Given the description of an element on the screen output the (x, y) to click on. 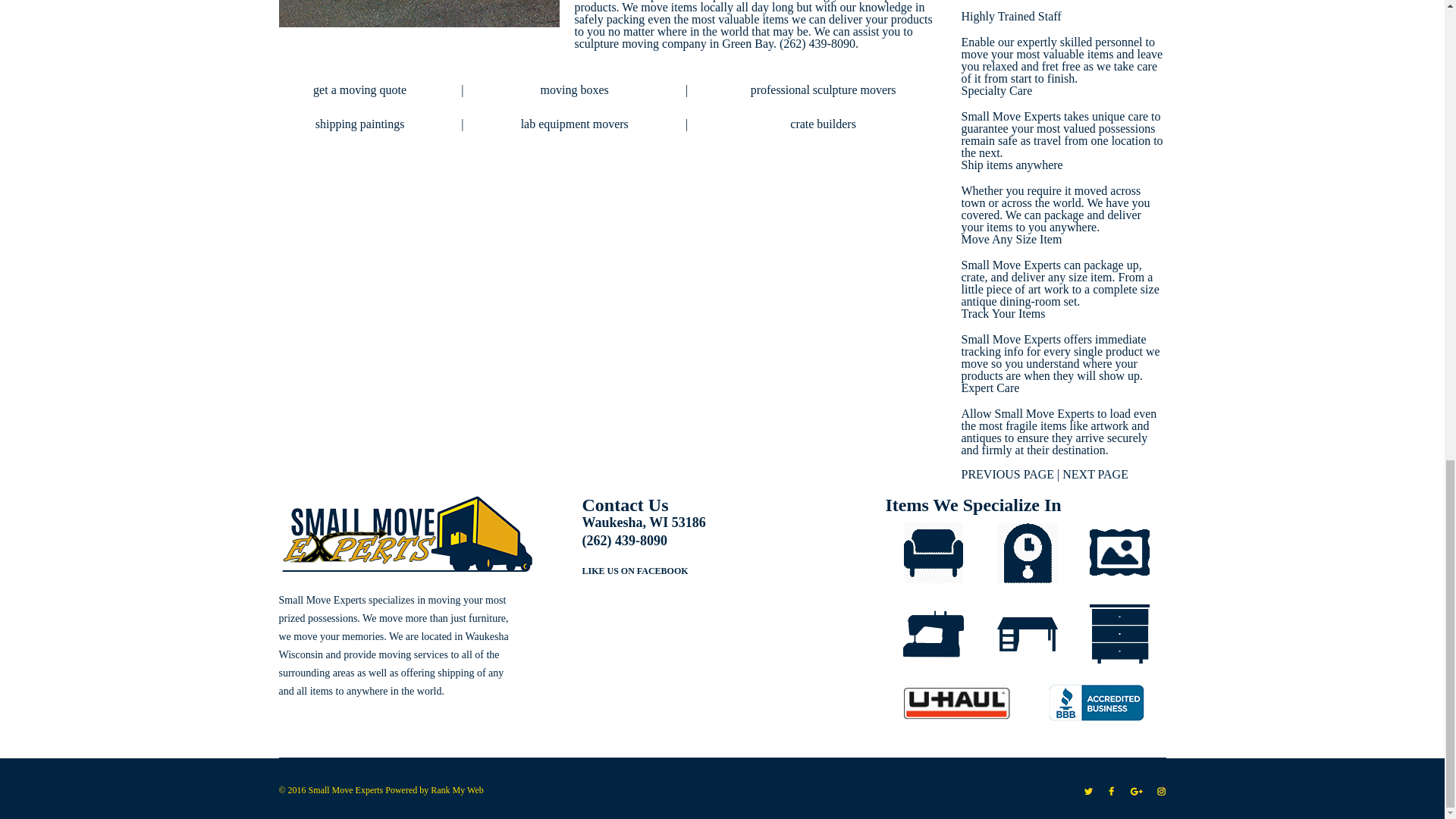
crate builders (823, 123)
get a moving quote (359, 89)
Highly Trained Staff (1010, 15)
moving boxes (574, 89)
professional sculpture movers (823, 89)
shipping paintings (359, 123)
lab equipment movers (574, 123)
